Given the description of an element on the screen output the (x, y) to click on. 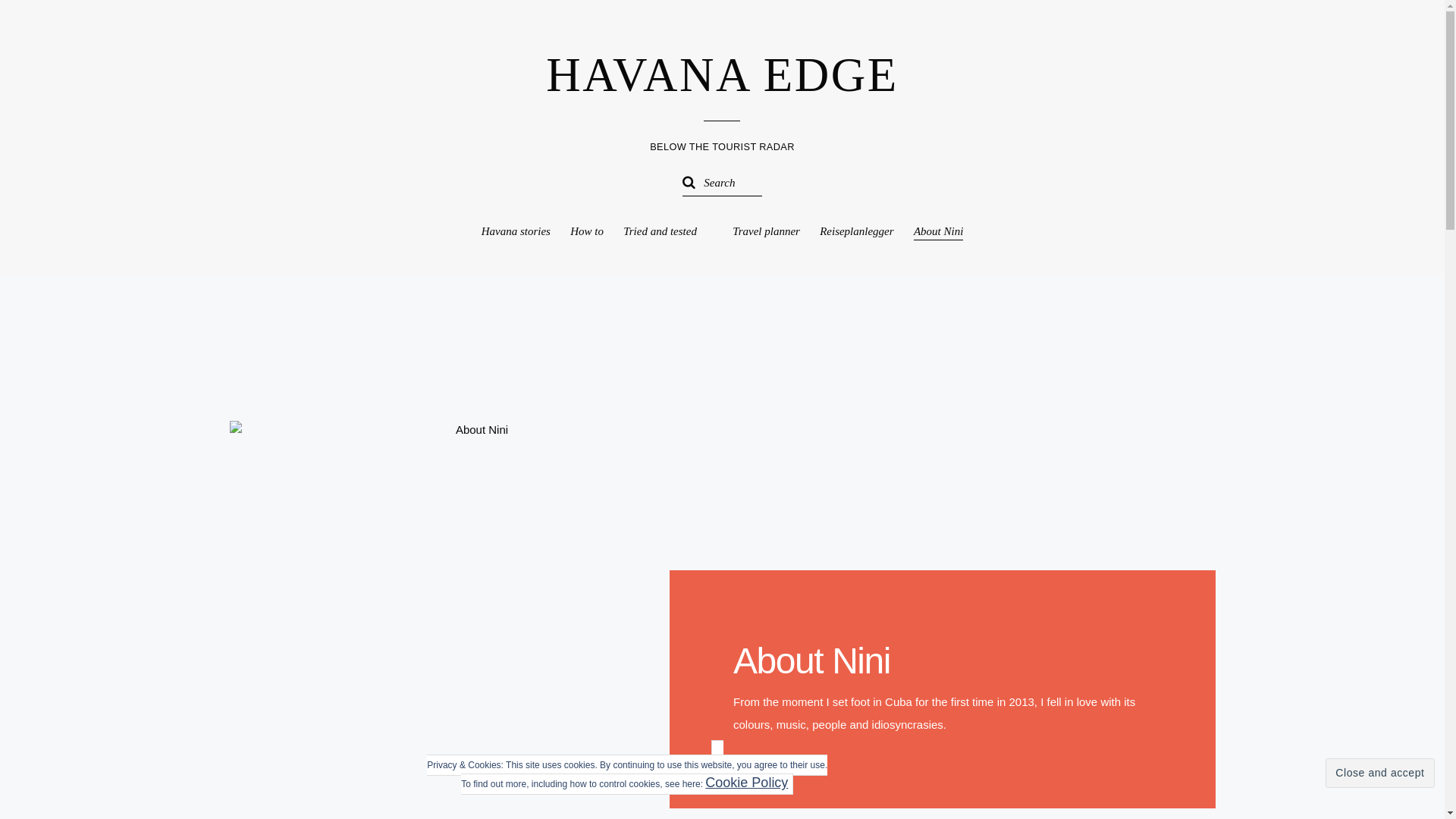
Travel planner (765, 231)
Havana Edge (722, 74)
Cookie Policy (745, 782)
HAVANA EDGE (722, 74)
Reiseplanlegger (856, 231)
Tried and tested (668, 231)
About Nini (938, 231)
Havana stories (515, 231)
Close and accept (1379, 772)
